Given the description of an element on the screen output the (x, y) to click on. 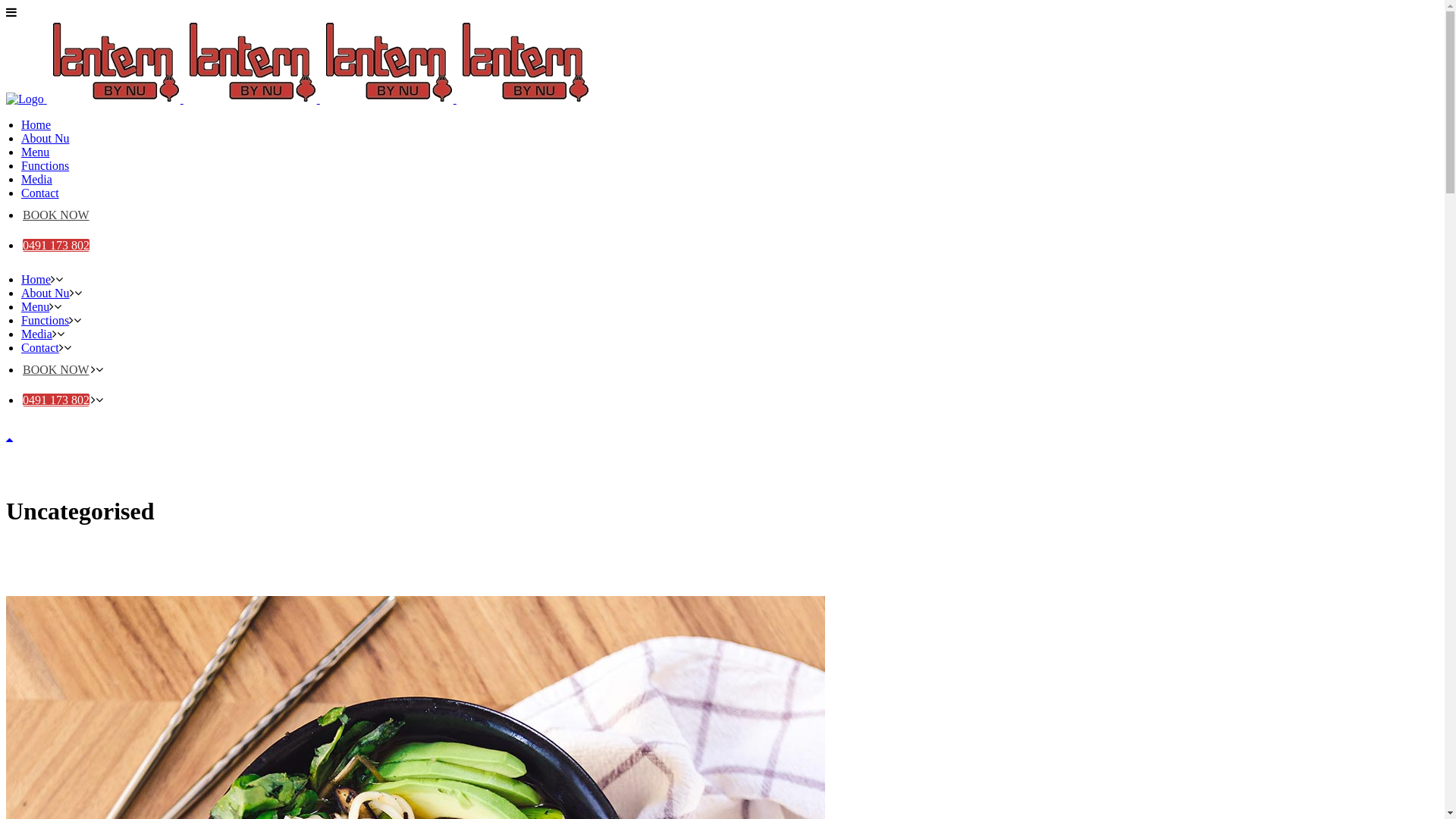
BOOK NOW Element type: text (55, 214)
Menu Element type: text (35, 306)
Contact Element type: text (40, 192)
Functions Element type: text (45, 165)
0491 173 802 Element type: text (55, 399)
About Nu Element type: text (45, 292)
BOOK NOW Element type: text (55, 369)
Contact Element type: text (40, 347)
Menu Element type: text (35, 151)
0491 173 802 Element type: text (55, 244)
Home Element type: text (35, 279)
Media Element type: text (36, 178)
Home Element type: text (35, 124)
About Nu Element type: text (45, 137)
Functions Element type: text (45, 319)
Media Element type: text (36, 333)
